Given the description of an element on the screen output the (x, y) to click on. 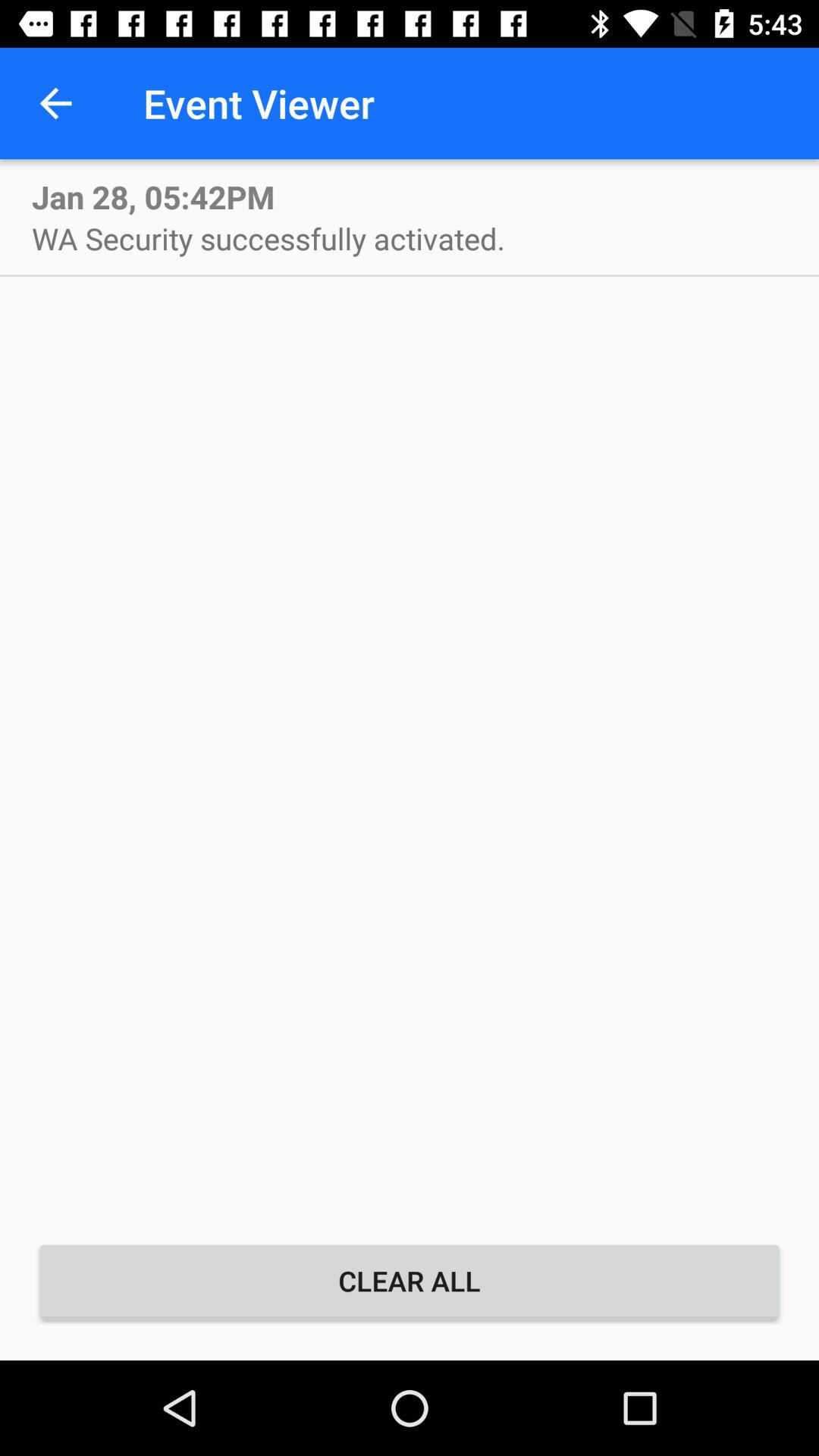
swipe until jan 28 05 icon (152, 196)
